Given the description of an element on the screen output the (x, y) to click on. 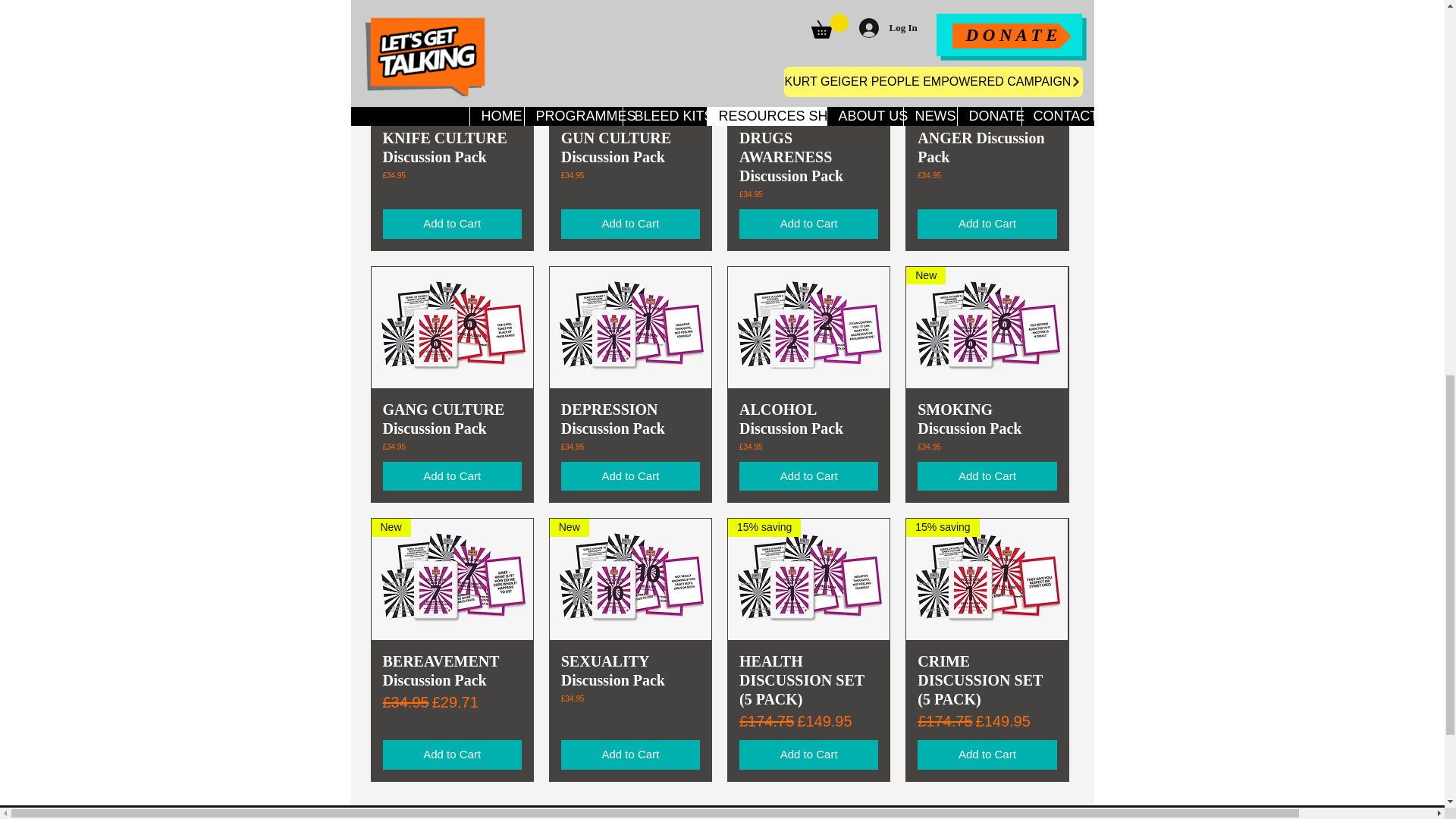
New (986, 327)
Add to Cart (987, 224)
Add to Cart (808, 476)
Add to Cart (451, 476)
Add to Cart (630, 224)
Add to Cart (808, 224)
Add to Cart (630, 476)
Add to Cart (451, 224)
